Given the description of an element on the screen output the (x, y) to click on. 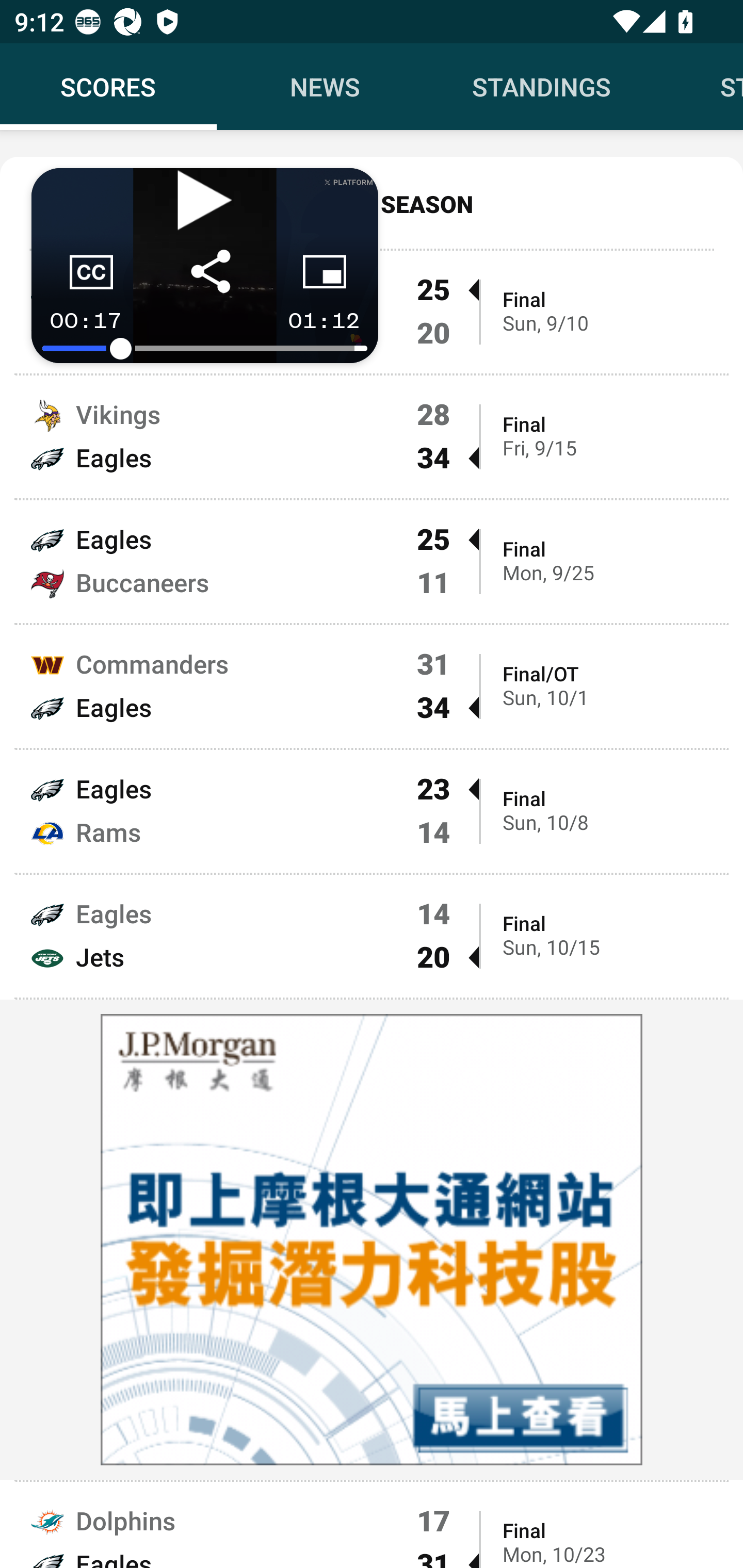
News NEWS (324, 86)
Standings STANDINGS (541, 86)
Stats STATS (696, 86)
Vikings 28 Eagles 34  Final Fri, 9/15 (371, 436)
Eagles 25  Buccaneers 11 Final Mon, 9/25 (371, 561)
Commanders 31 Eagles 34  Final/OT Sun, 10/1 (371, 686)
Eagles 23  Rams 14 Final Sun, 10/8 (371, 811)
Eagles 14 Jets 20  Final Sun, 10/15 (371, 935)
Advertisement (371, 1240)
Dolphins 17 Eagles 31  Final Mon, 10/23 (371, 1524)
